Given the description of an element on the screen output the (x, y) to click on. 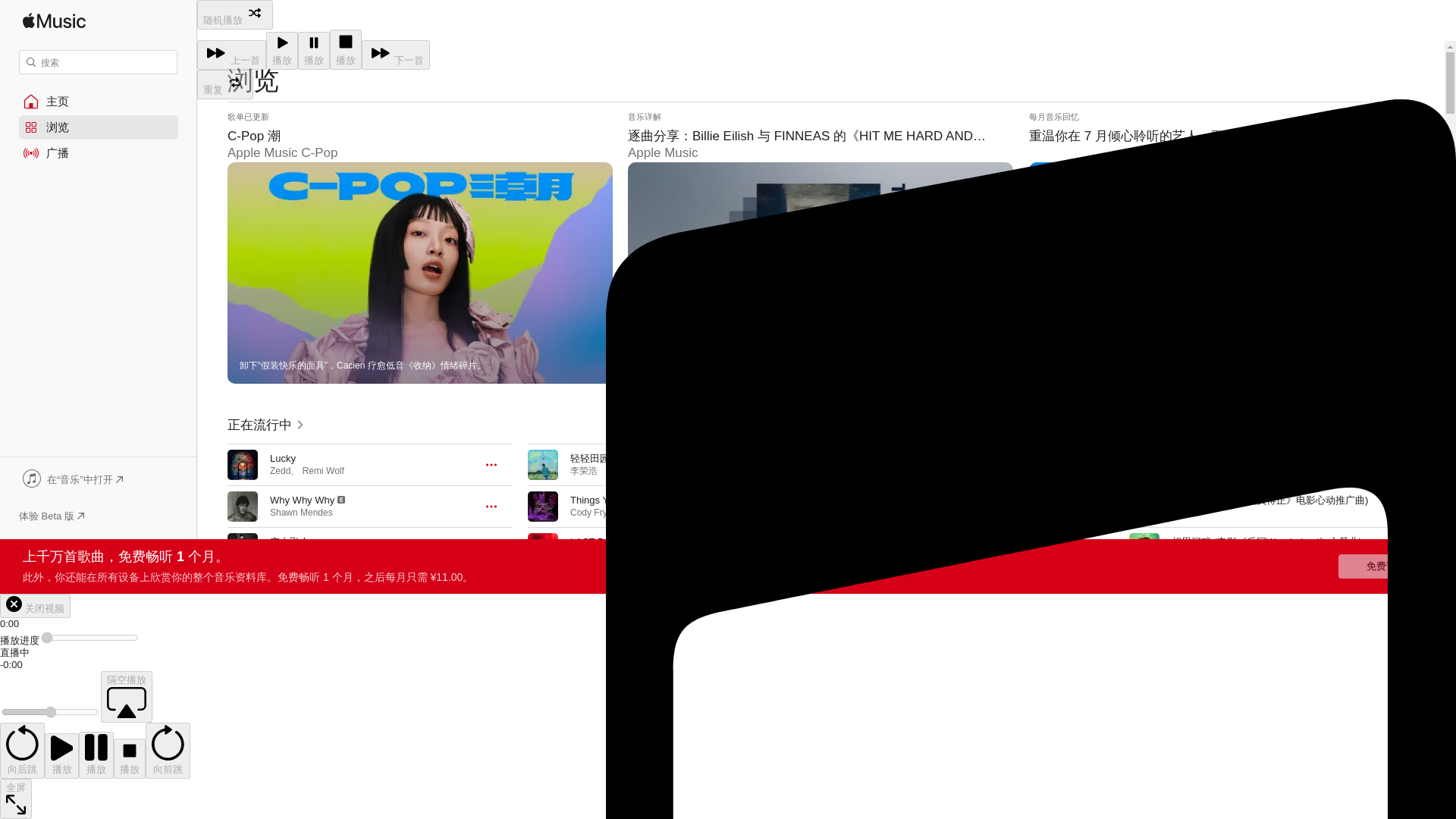
Shawn Mendes (301, 511)
Why Why Why (301, 500)
Lucky (282, 458)
Remi Wolf (322, 470)
Zedd (279, 470)
Cry Baby (289, 583)
